Given the description of an element on the screen output the (x, y) to click on. 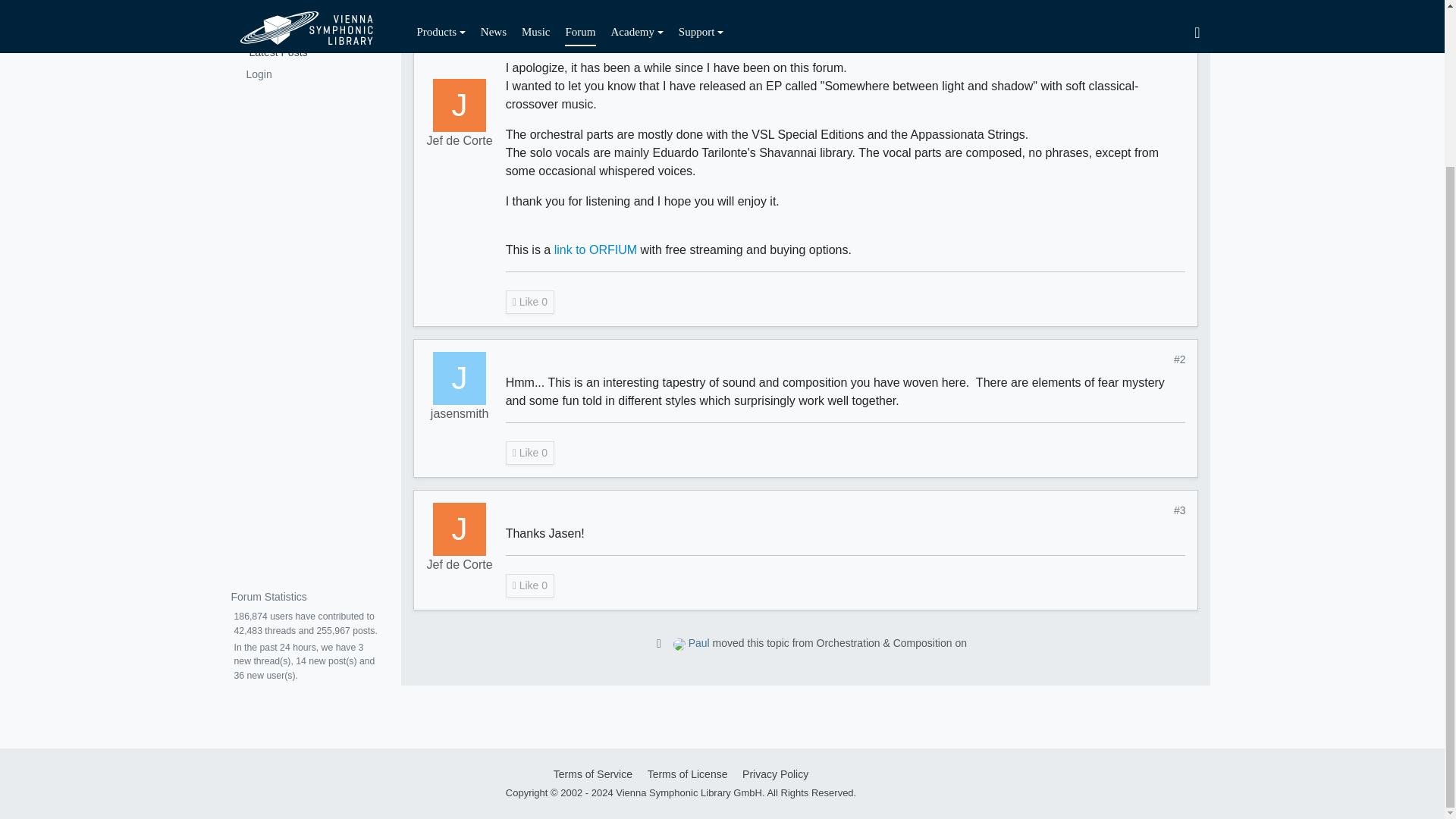
Jef de Corte (459, 99)
Jef de Corte (459, 63)
jasensmith (459, 378)
